Given the description of an element on the screen output the (x, y) to click on. 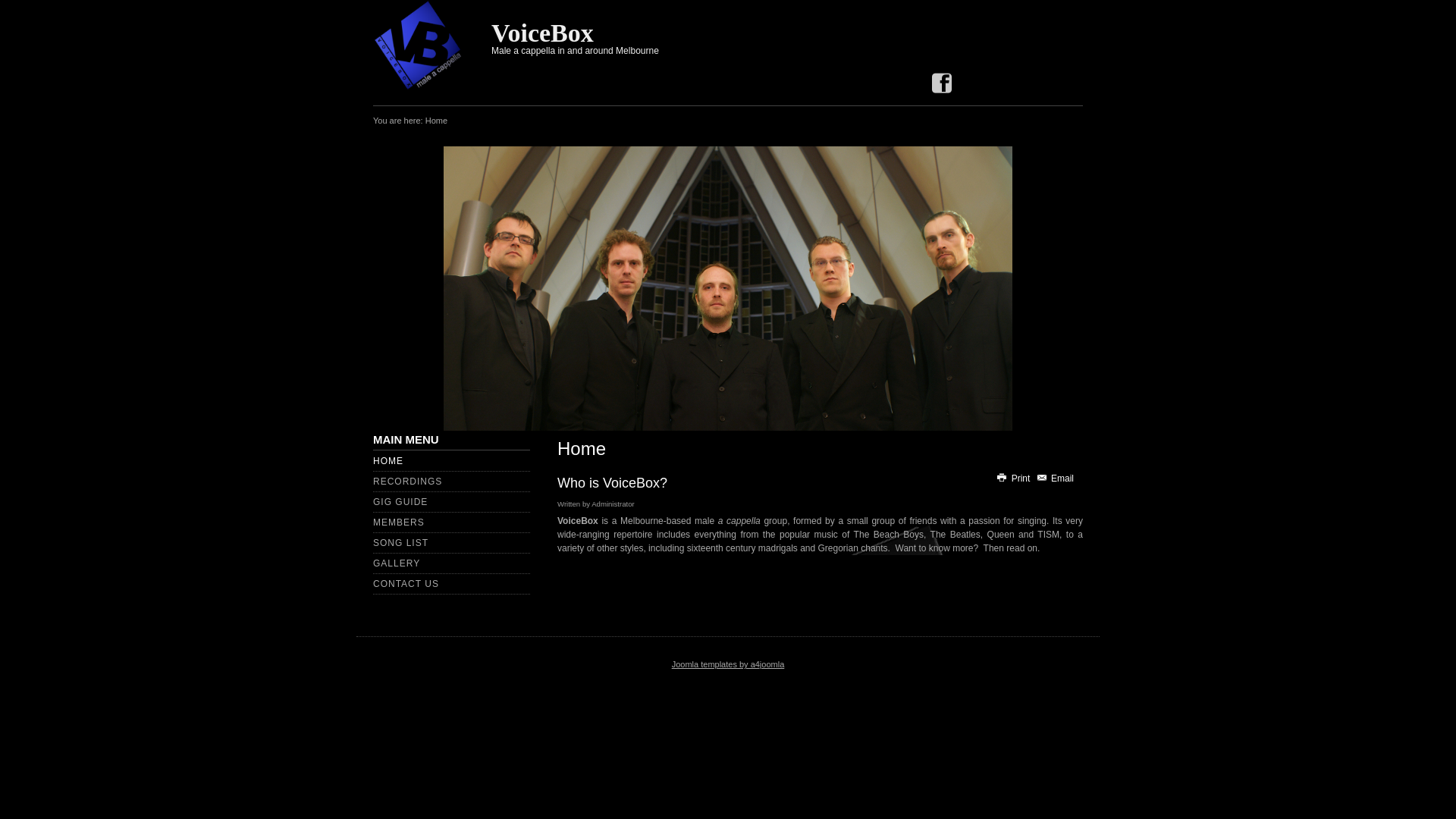
GALLERY Element type: text (396, 563)
Email Element type: text (1054, 478)
MEMBERS Element type: text (398, 522)
HOME Element type: text (388, 460)
SONG LIST Element type: text (400, 542)
GIG GUIDE Element type: text (400, 501)
RECORDINGS Element type: text (407, 481)
Print Element type: text (1013, 478)
VoiceBox Element type: text (542, 32)
Joomla templates by a4joomla Element type: text (727, 663)
CONTACT US Element type: text (406, 583)
Who is VoiceBox? Element type: text (612, 482)
Facebook Element type: hover (941, 84)
